Given the description of an element on the screen output the (x, y) to click on. 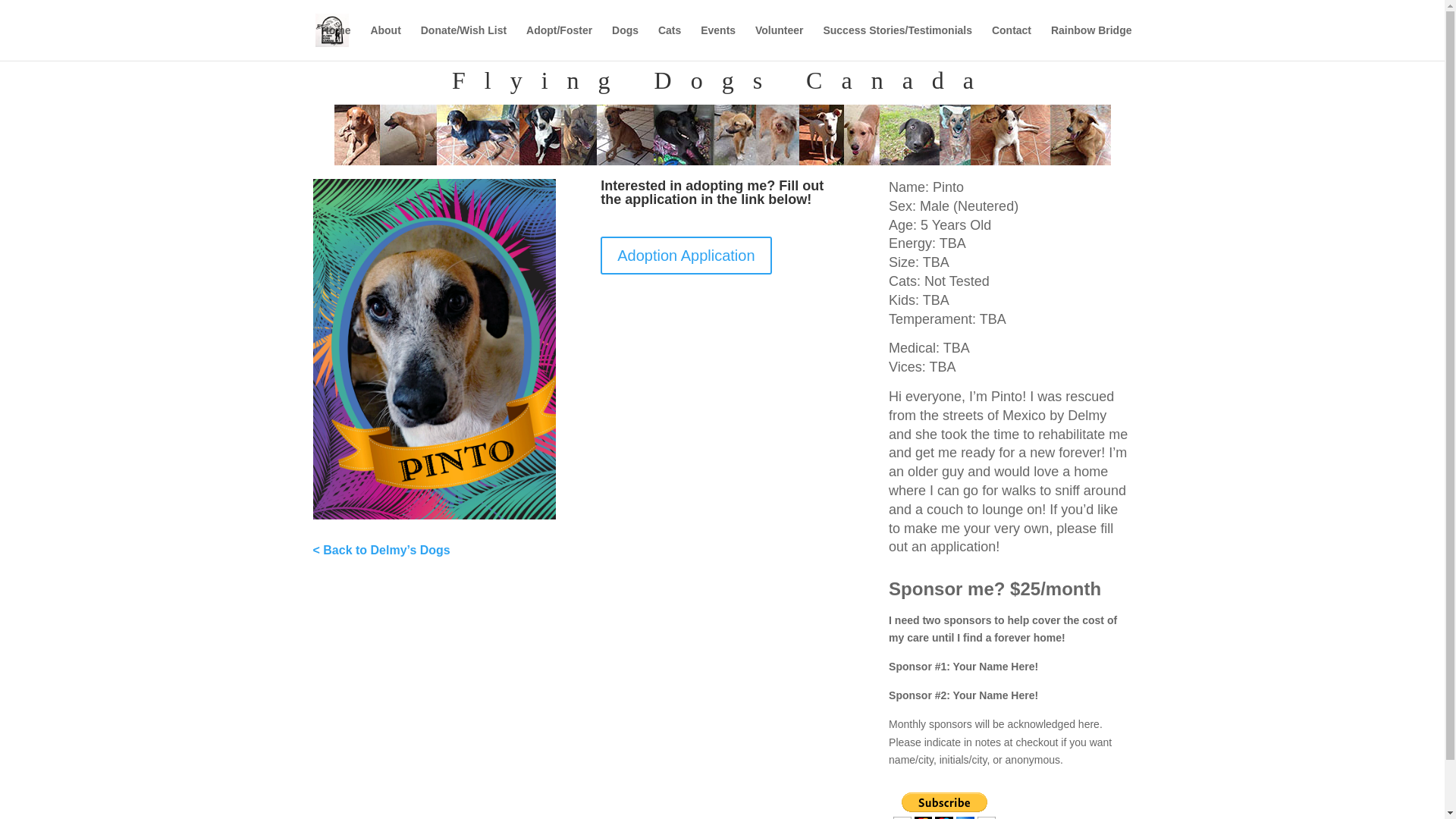
Events (717, 42)
Volunteer (779, 42)
Rainbow Bridge (1091, 42)
Adoption Application (685, 255)
Contact (1010, 42)
